Given the description of an element on the screen output the (x, y) to click on. 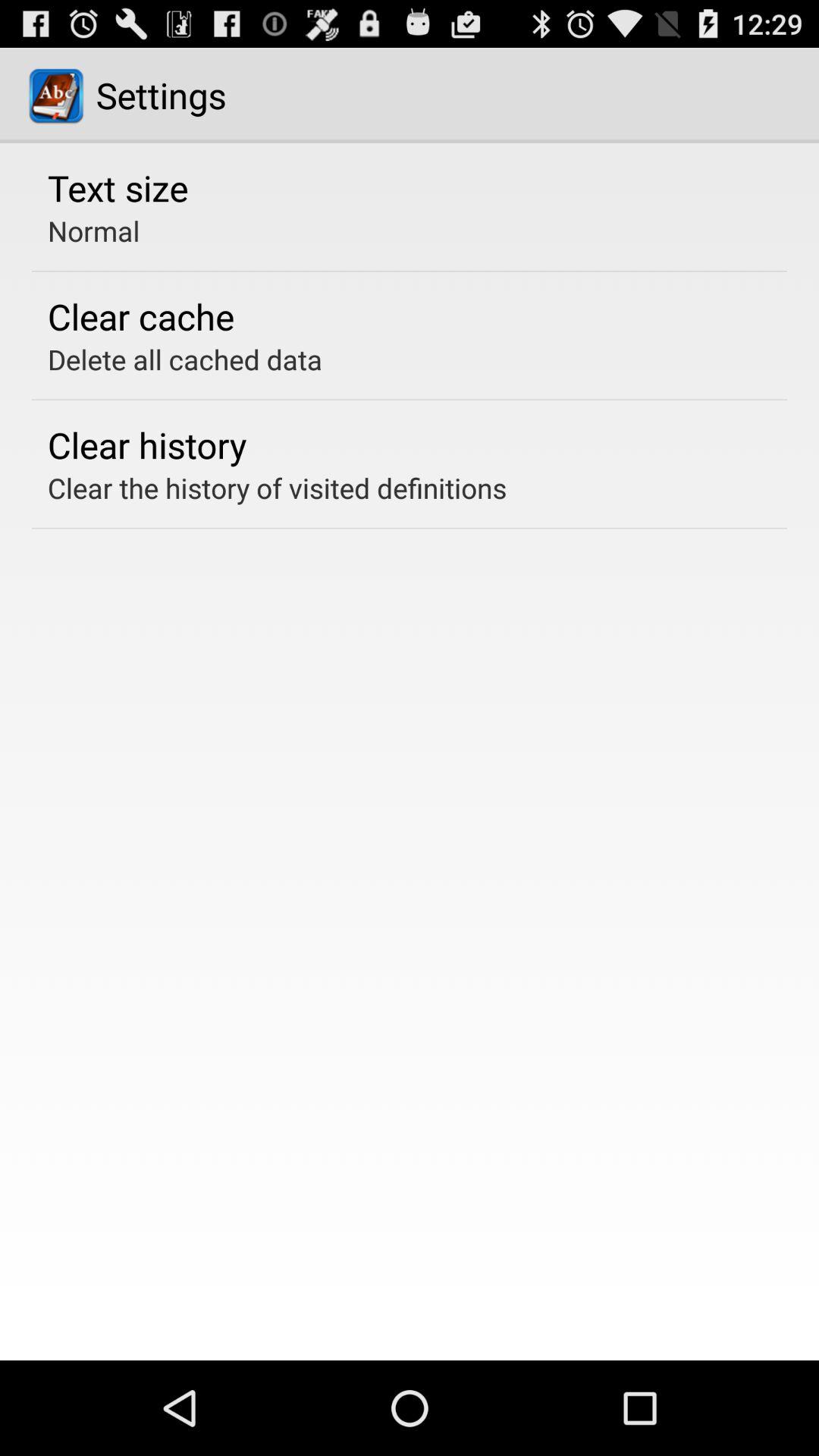
select the icon below the normal icon (140, 316)
